Given the description of an element on the screen output the (x, y) to click on. 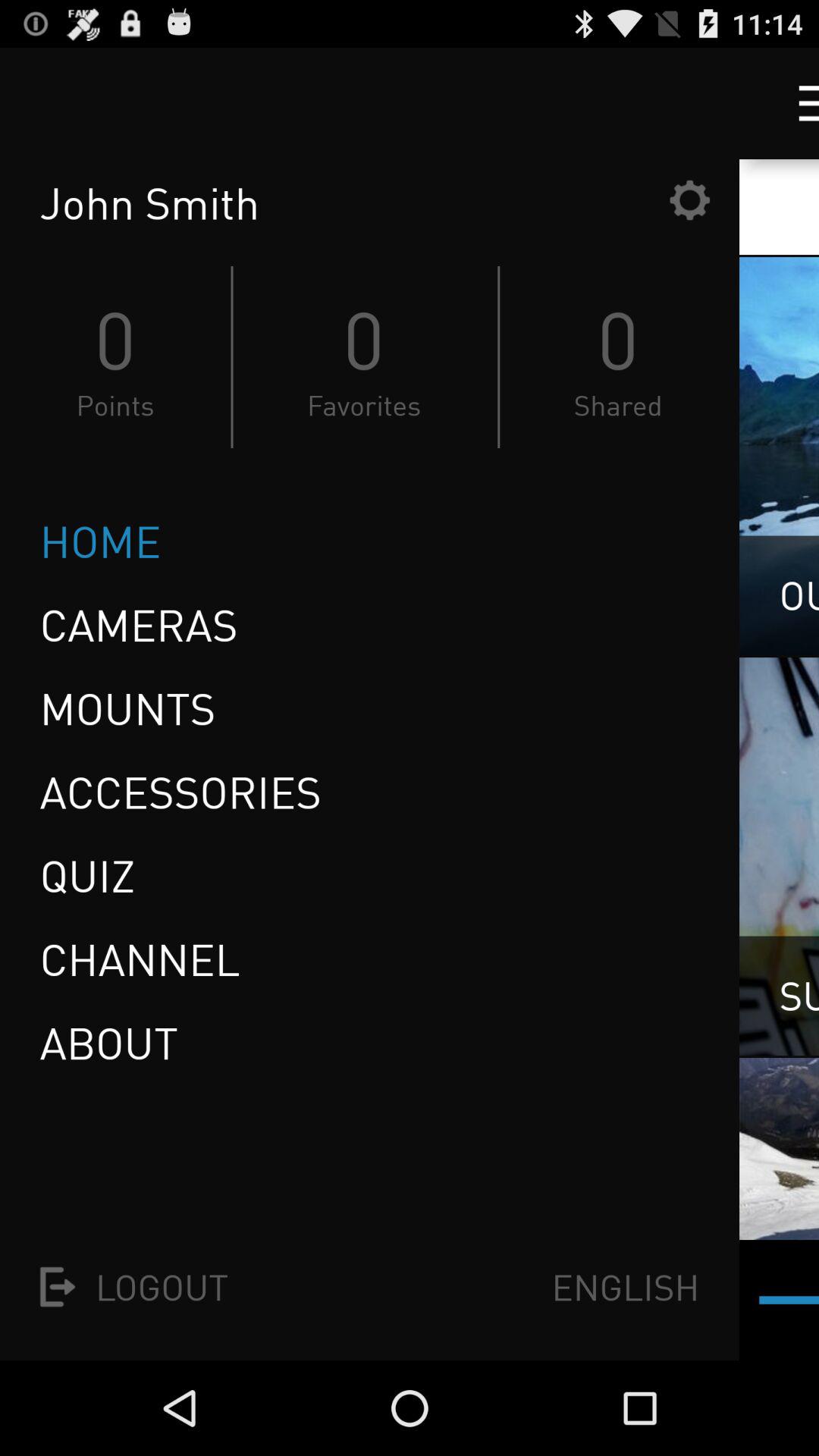
more settings (795, 102)
